Given the description of an element on the screen output the (x, y) to click on. 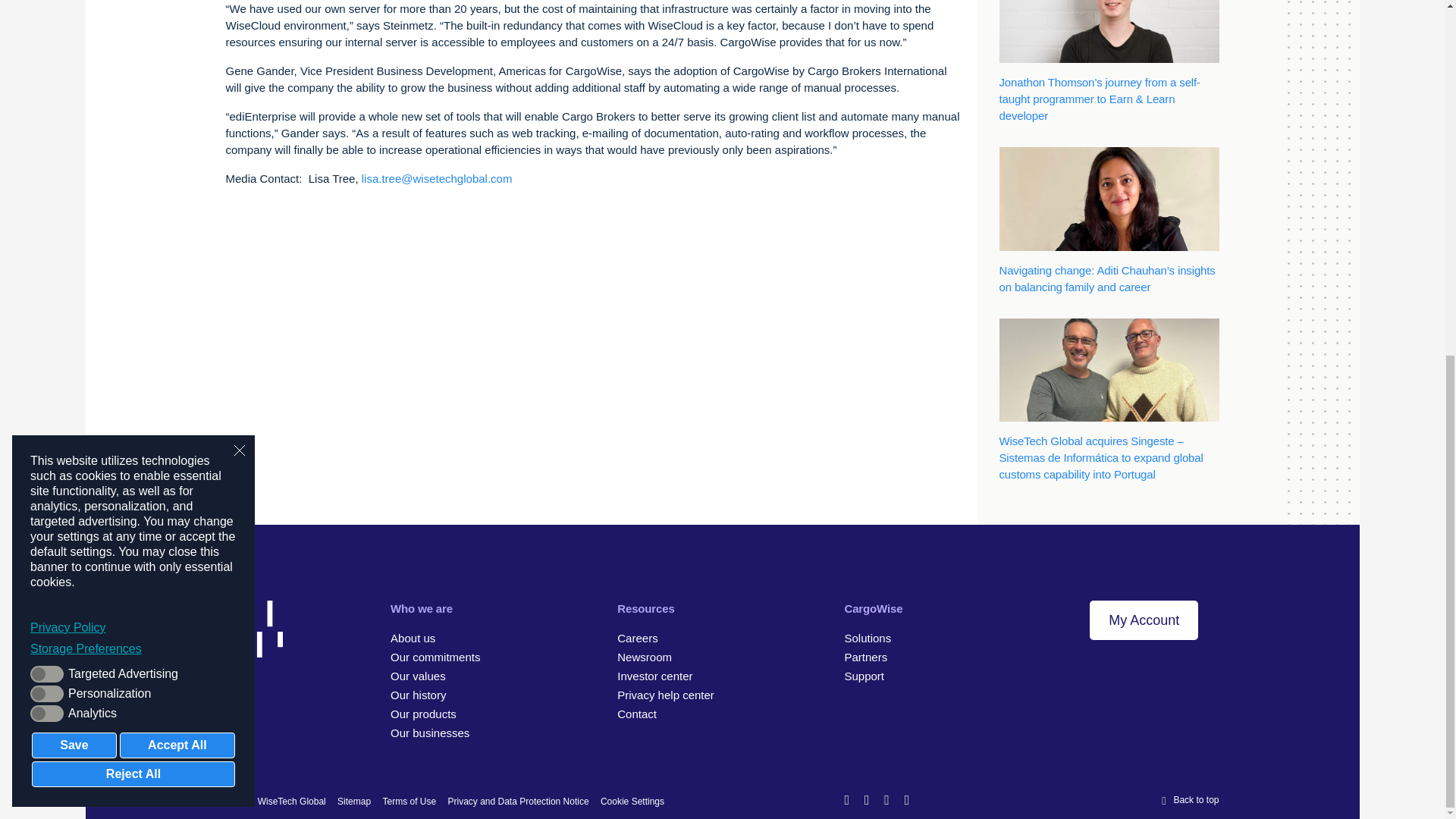
Discover CargoWise (867, 637)
Our history (417, 694)
Support (863, 675)
About us (412, 637)
CargoWise (873, 608)
Join Us (637, 637)
Legal (408, 801)
CargoWise (423, 713)
Contact (636, 713)
Reject All (133, 149)
Investor center (655, 675)
Find a Partner (865, 656)
Our businesses (429, 732)
Save (74, 121)
Accept All (176, 121)
